Given the description of an element on the screen output the (x, y) to click on. 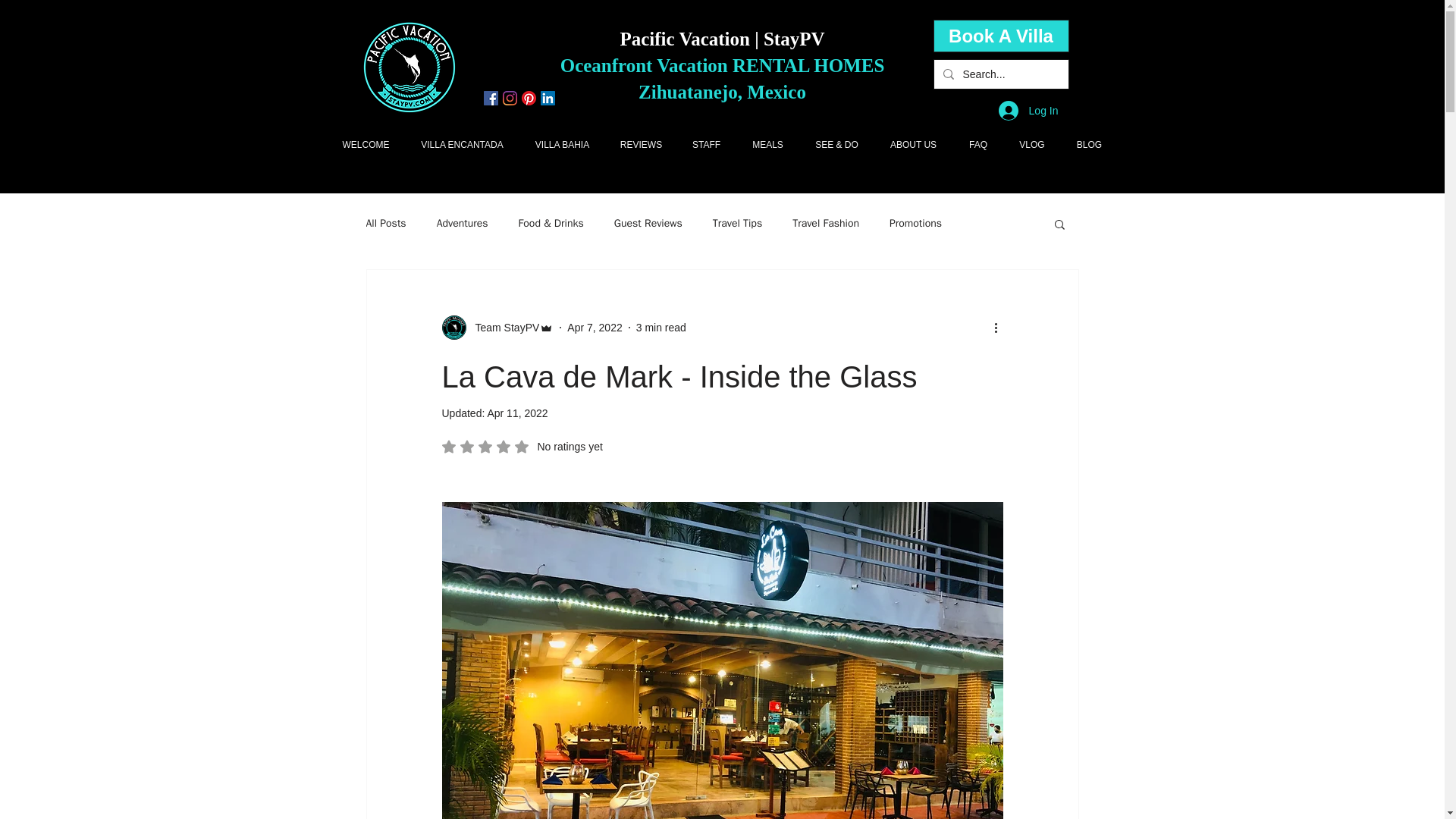
VILLA ENCANTADA (461, 144)
Apr 7, 2022 (594, 327)
Log In (1028, 110)
MEALS (767, 144)
3 min read (660, 327)
STAFF (706, 144)
REVIEWS (641, 144)
VILLA BAHIA (561, 144)
ABOUT US (912, 144)
WELCOME (365, 144)
